Given the description of an element on the screen output the (x, y) to click on. 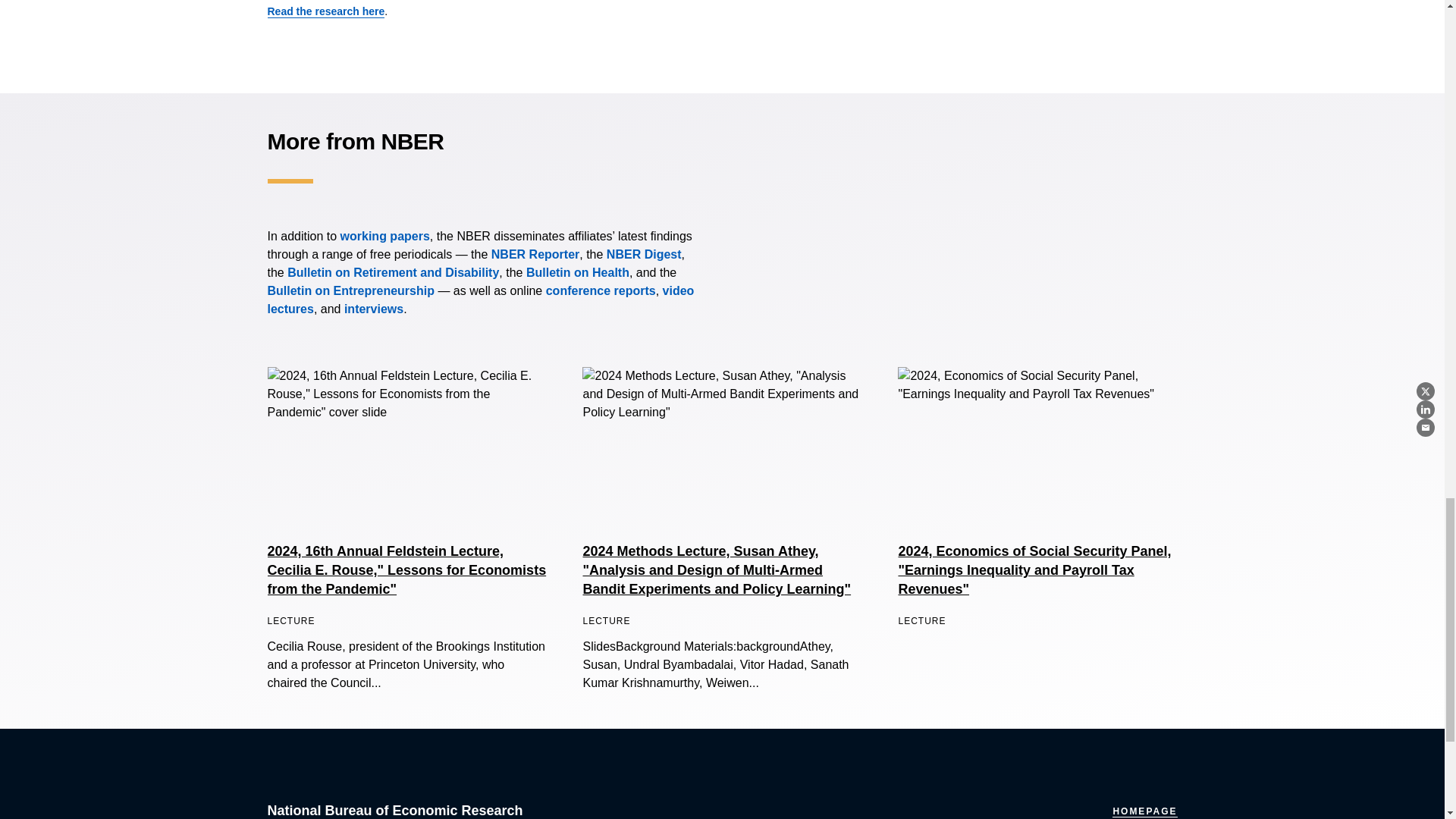
Lectures (480, 299)
Conferences (601, 290)
Research Spotlights (373, 308)
Working Papers (384, 236)
